Given the description of an element on the screen output the (x, y) to click on. 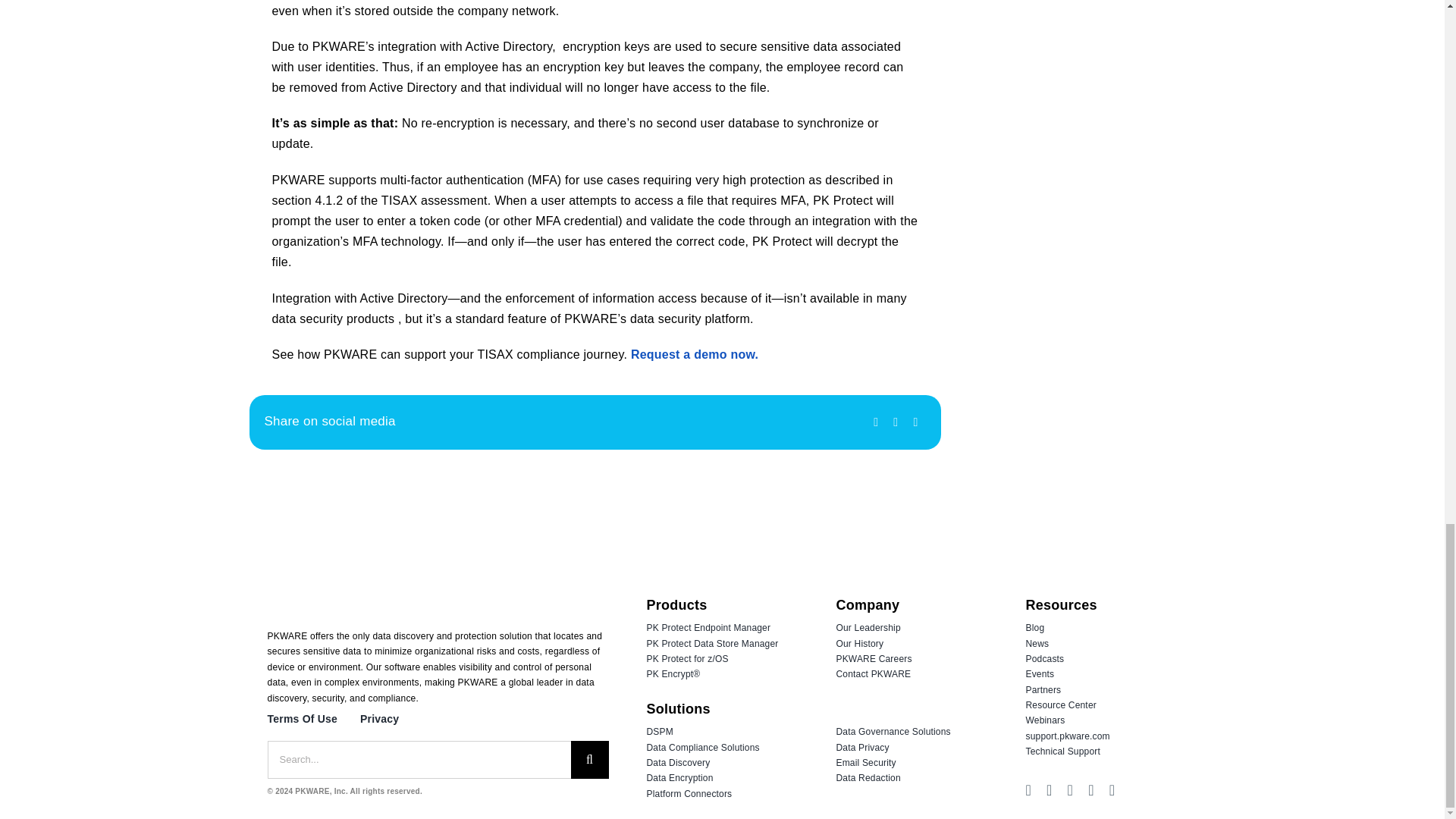
X (895, 421)
Facebook (875, 421)
LinkedIn (914, 421)
